Given the description of an element on the screen output the (x, y) to click on. 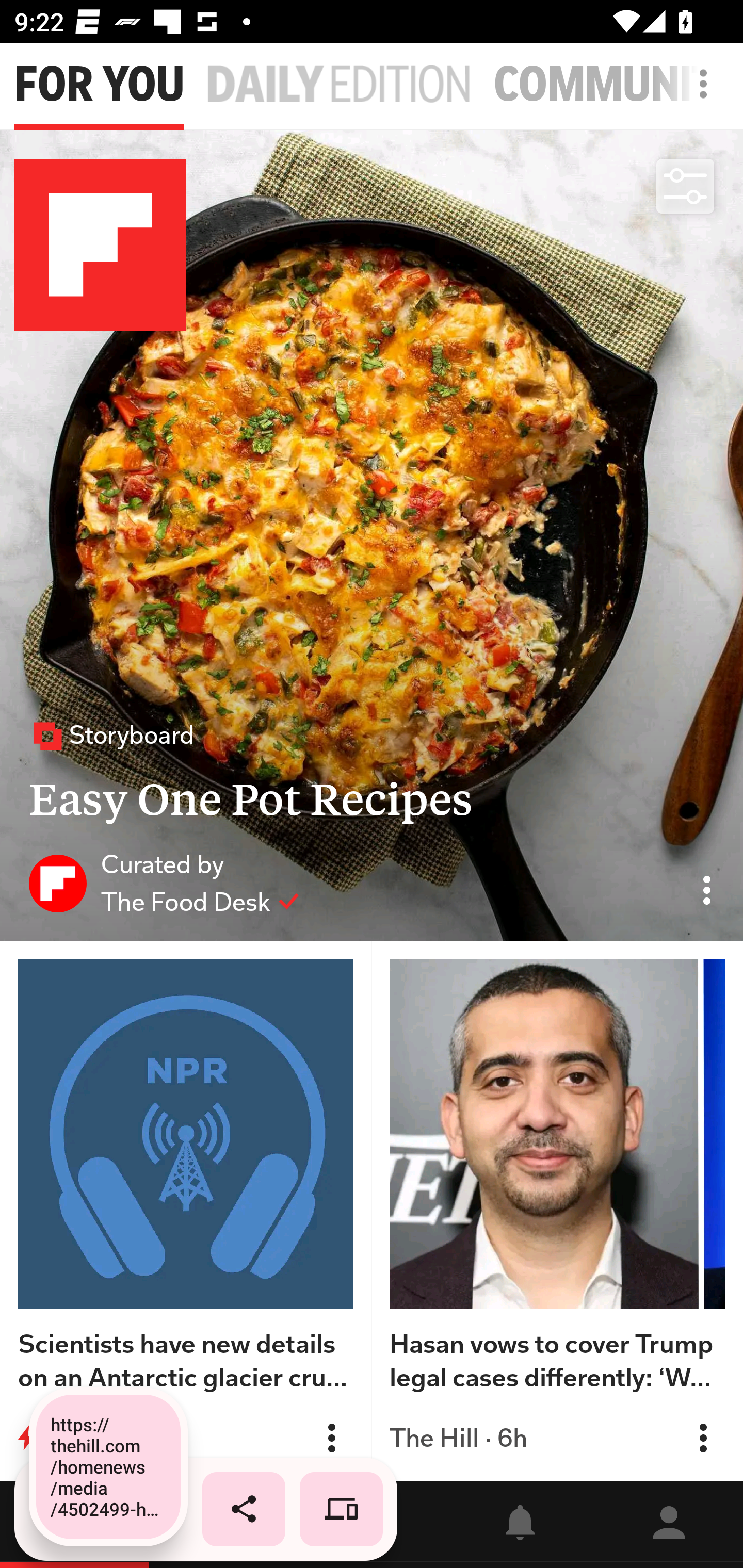
FOR YOU (99, 84)
COMMUNITY (618, 84)
More options (706, 93)
Curated by The Food Desk (163, 882)
The Hill · 6h Flip into Magazine (557, 1437)
Flip into Magazine (331, 1437)
Flip into Magazine (703, 1437)
Notifications (519, 1524)
Profile (668, 1524)
